Given the description of an element on the screen output the (x, y) to click on. 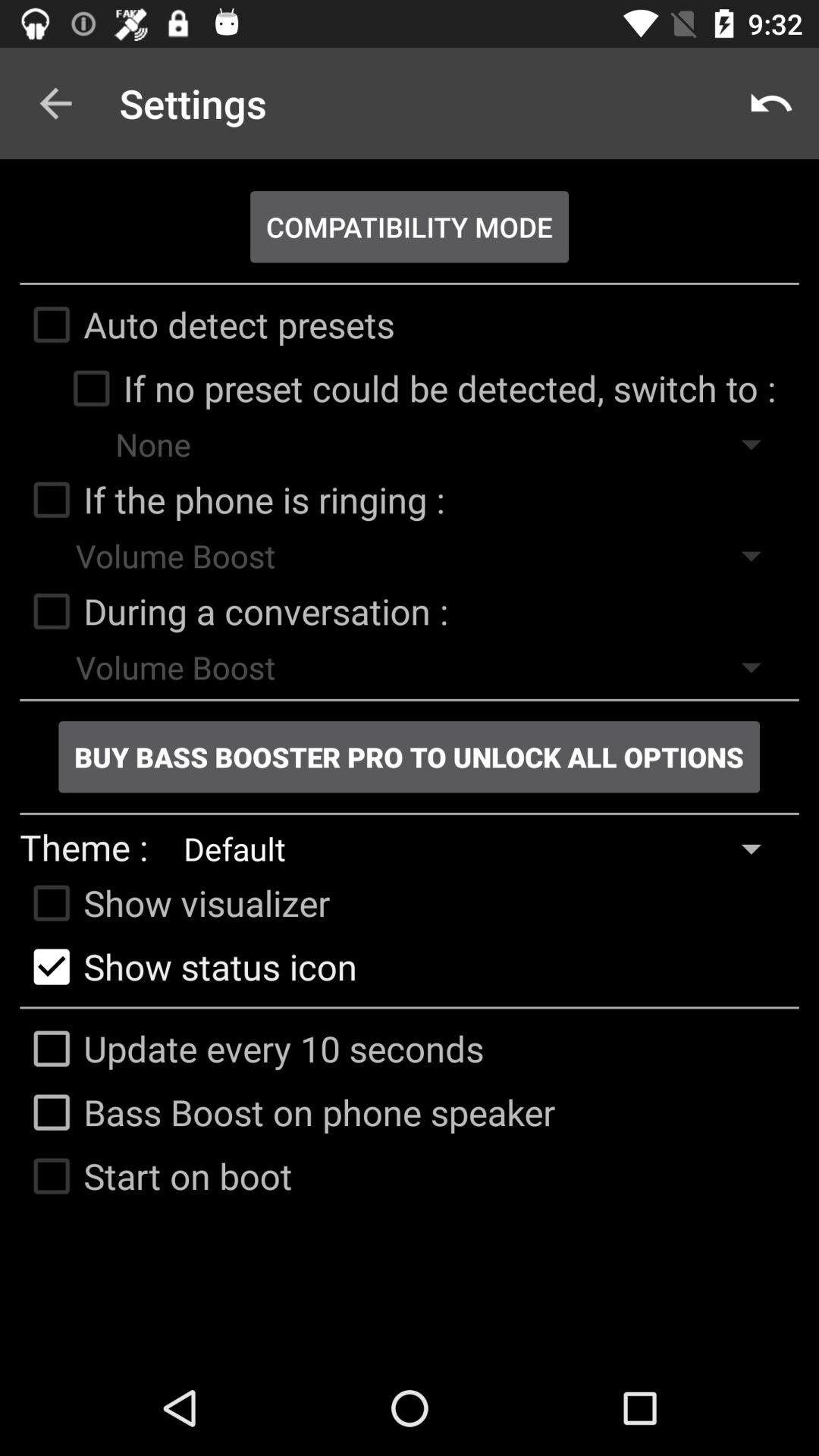
jump until bass boost on item (287, 1112)
